Given the description of an element on the screen output the (x, y) to click on. 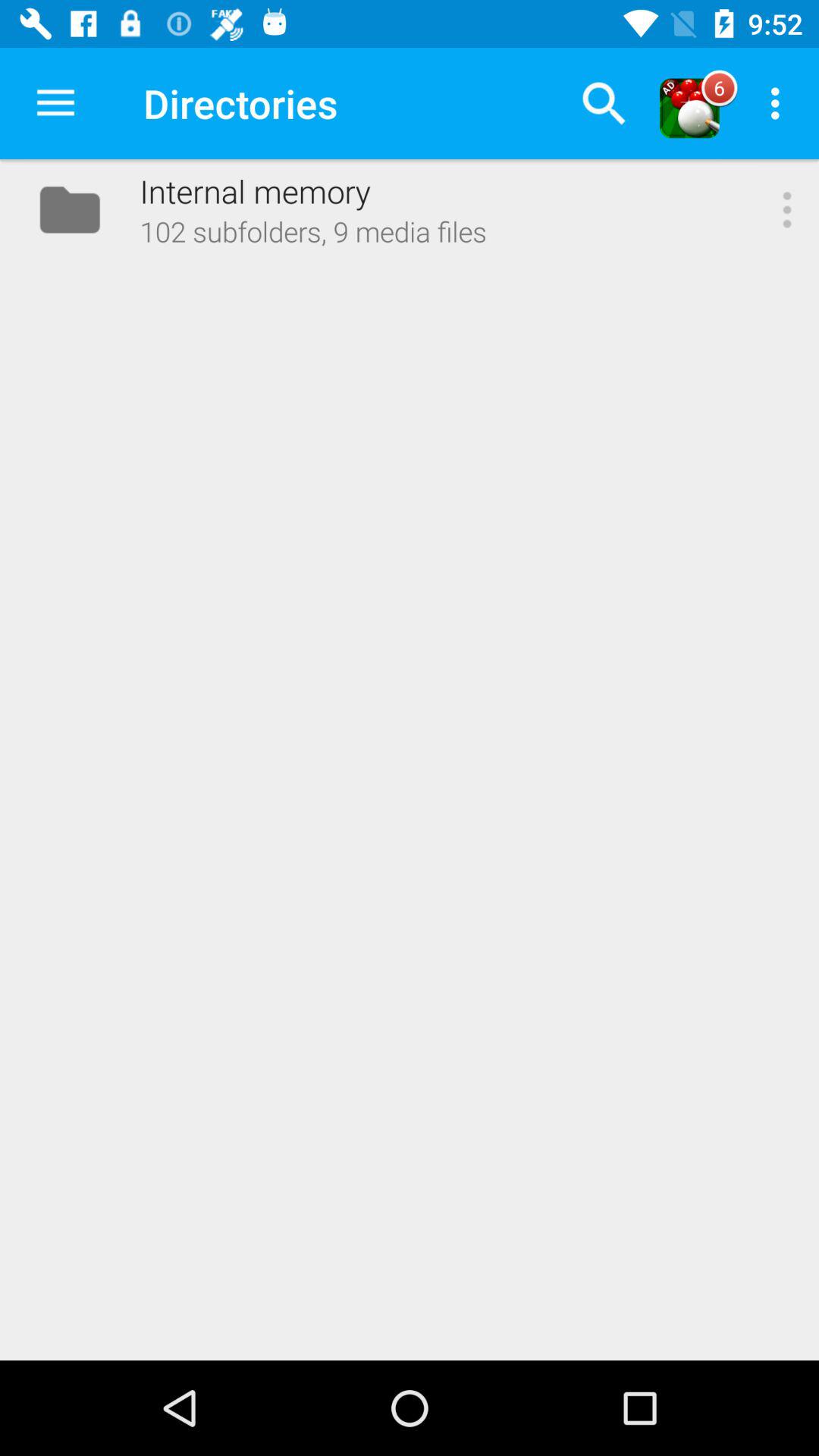
turn on the app to the right of directories (603, 103)
